Given the description of an element on the screen output the (x, y) to click on. 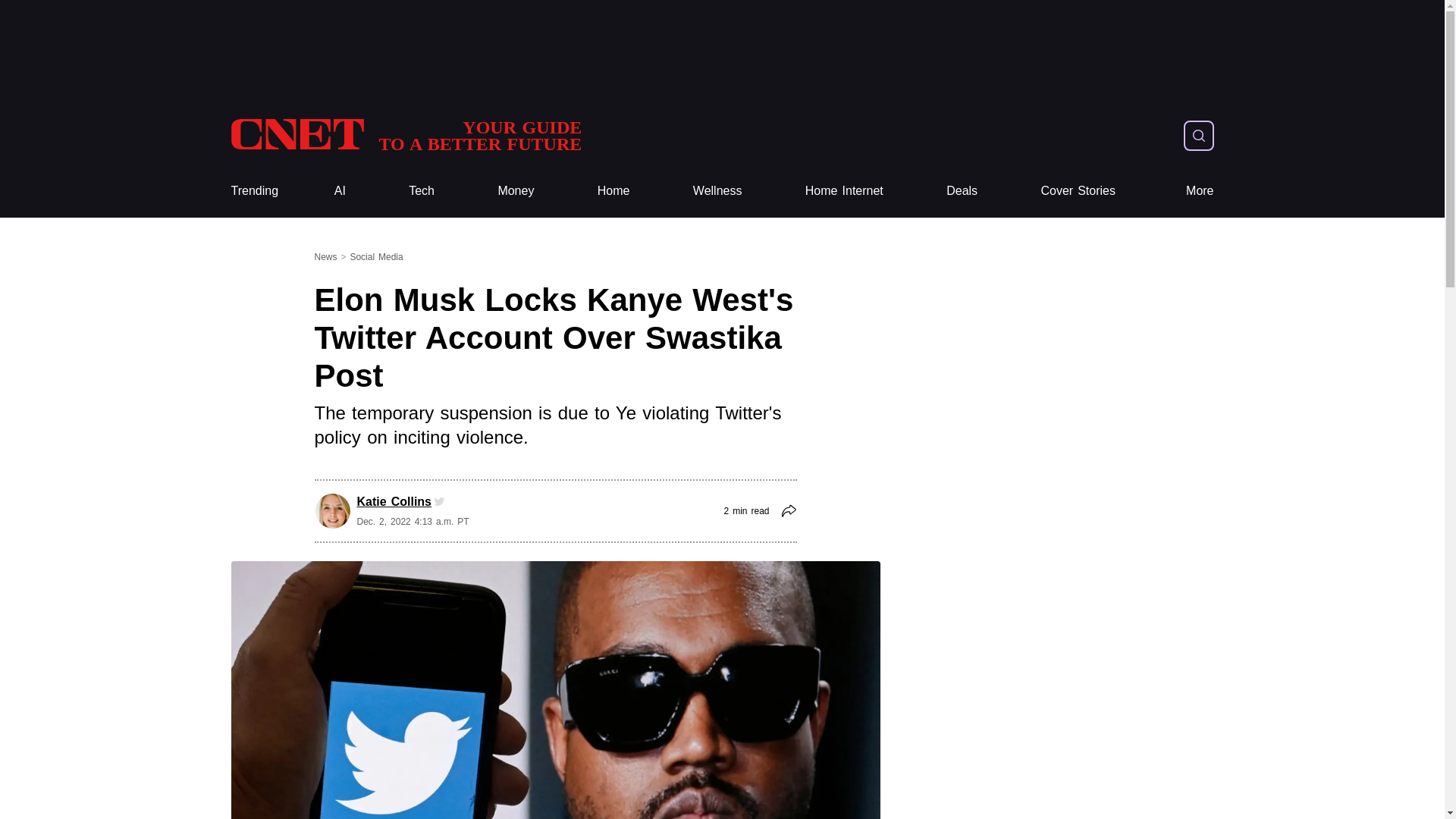
Home Internet (844, 190)
Home Internet (844, 190)
Trending (254, 190)
Home (613, 190)
More (1199, 190)
Cover Stories (1078, 190)
Wellness (717, 190)
Tech (421, 190)
Trending (254, 190)
Money (515, 190)
